Given the description of an element on the screen output the (x, y) to click on. 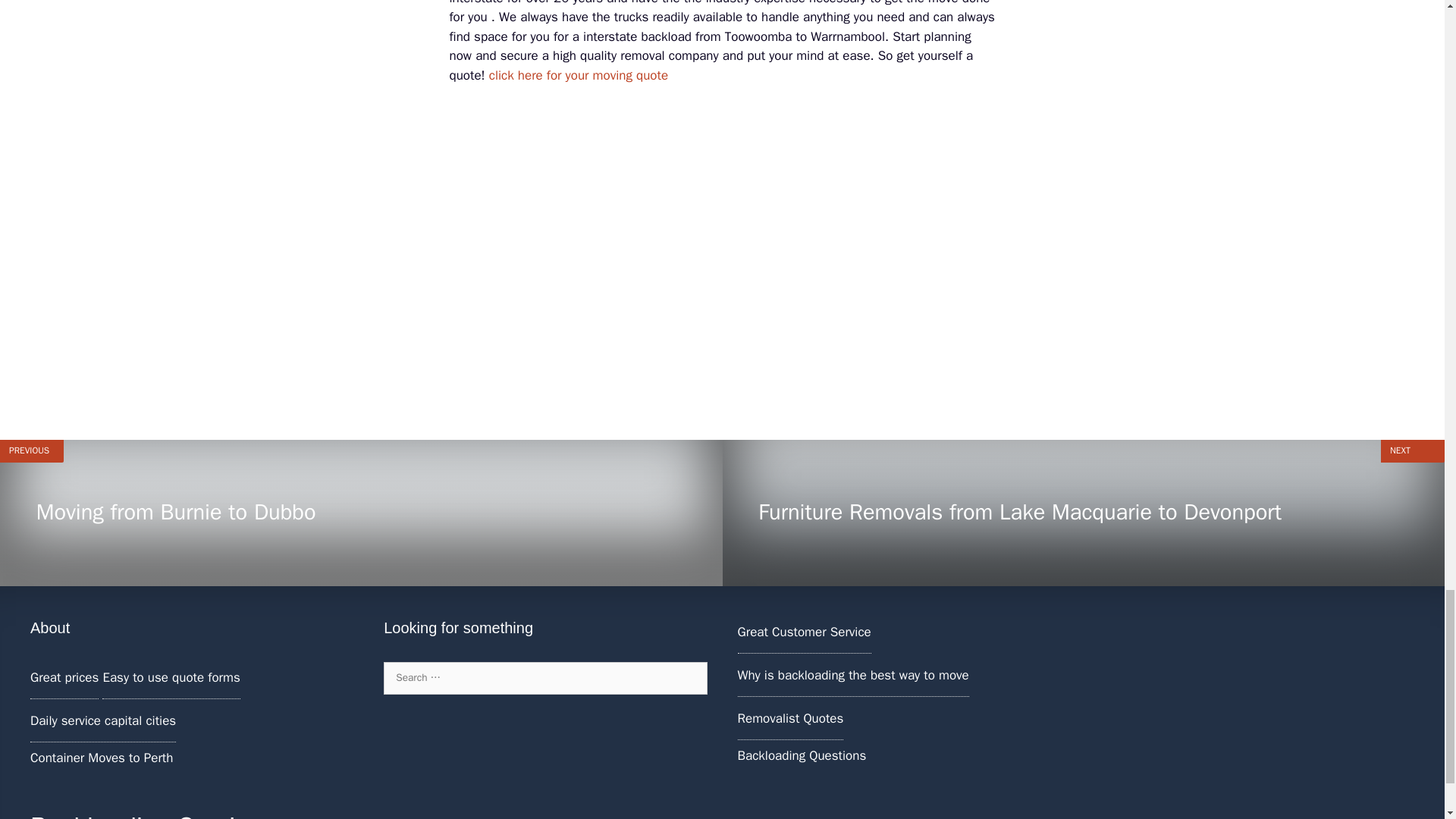
Search for: (545, 677)
Backloading Questions (801, 755)
click here for your moving quote (578, 75)
Removalist Quotes (789, 718)
Why is backloading the best way to move (852, 675)
Great Customer Service (803, 631)
